Given the description of an element on the screen output the (x, y) to click on. 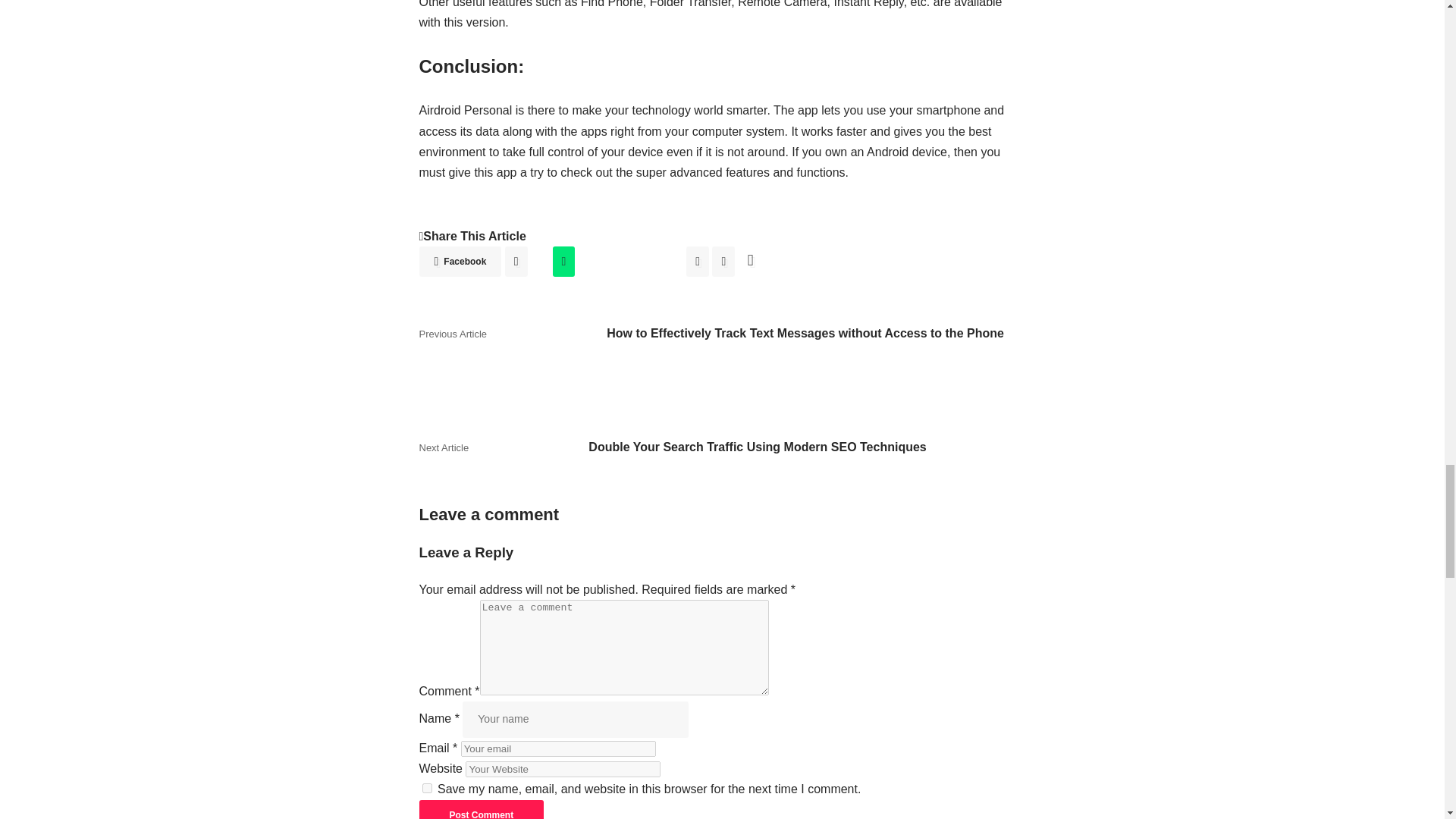
Post Comment (481, 809)
yes (426, 787)
